Given the description of an element on the screen output the (x, y) to click on. 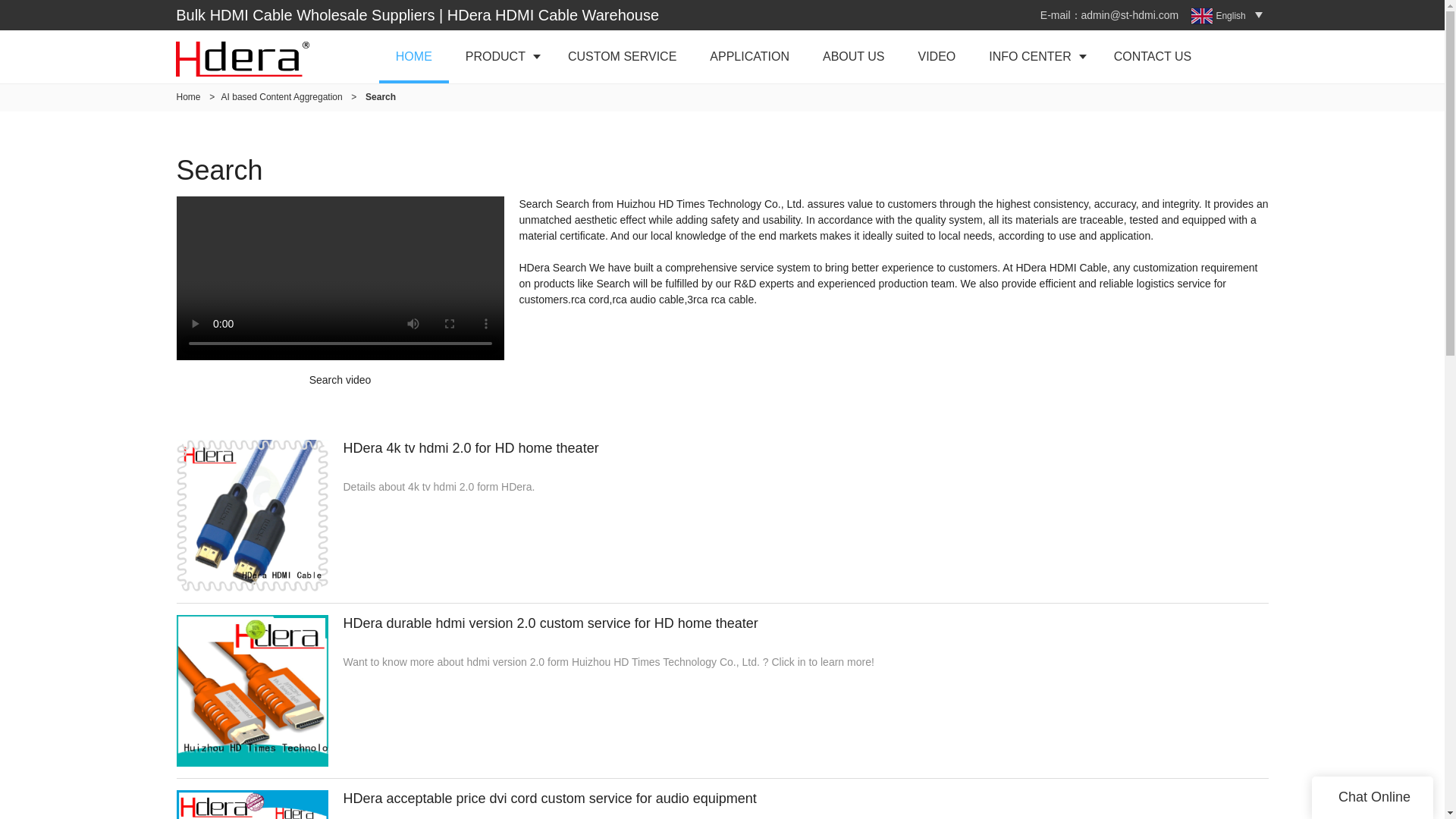
PRODUCT (499, 56)
HOME (413, 56)
